Given the description of an element on the screen output the (x, y) to click on. 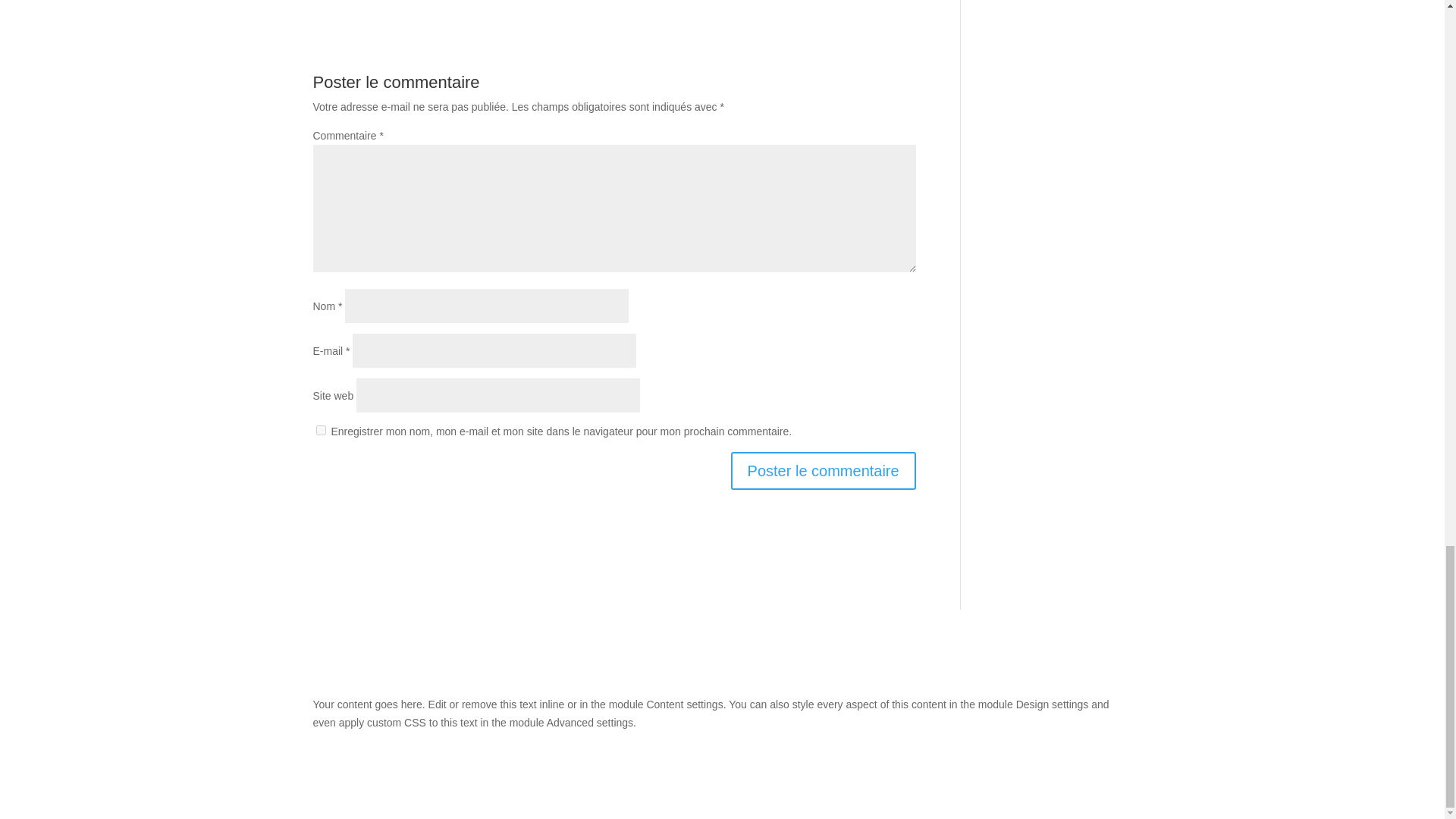
yes (319, 429)
Poster le commentaire (822, 470)
Poster le commentaire (822, 470)
